Given the description of an element on the screen output the (x, y) to click on. 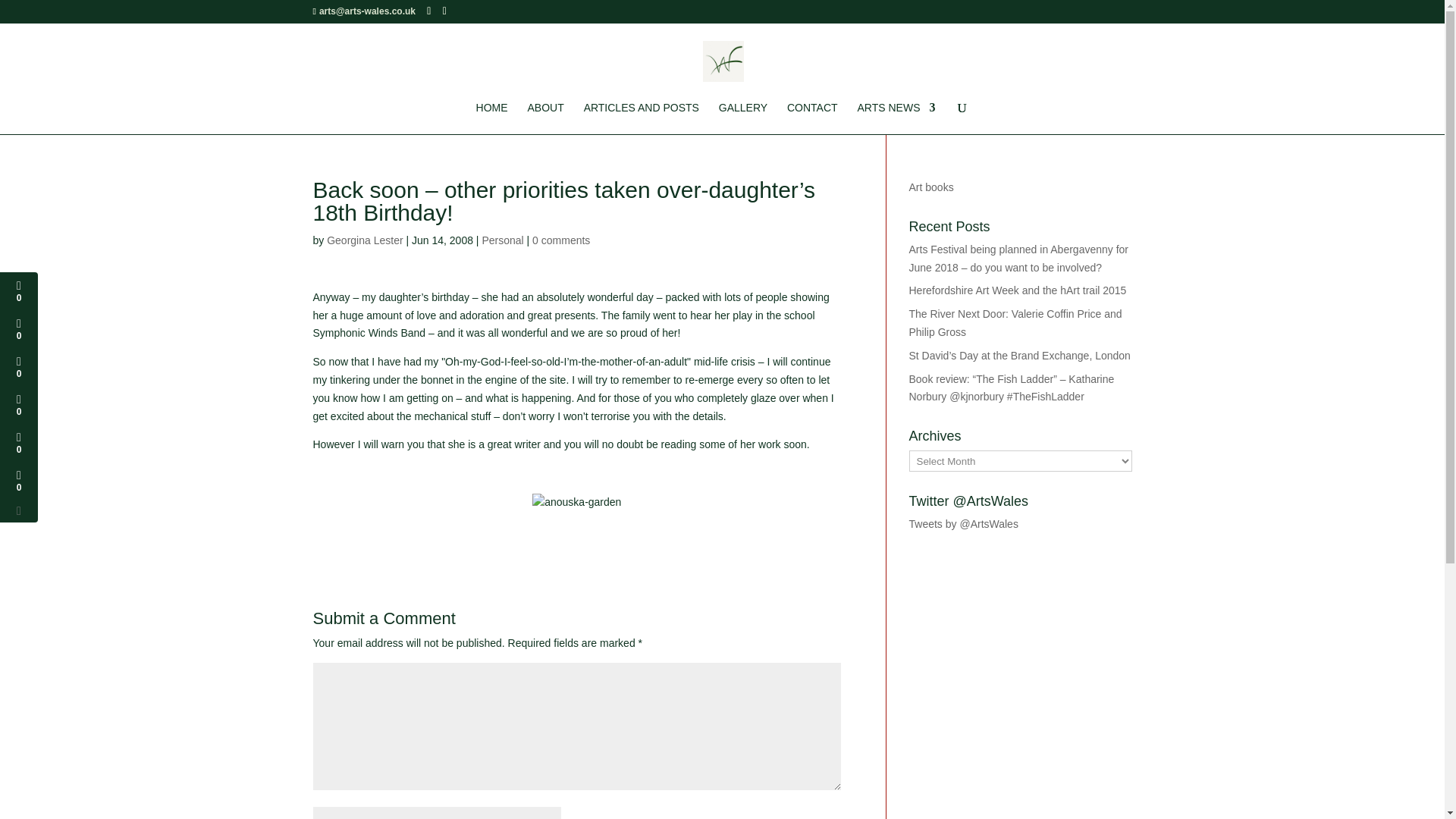
ARTICLES AND POSTS (640, 118)
GALLERY (743, 118)
Georgina Lester (364, 240)
Herefordshire Art Week and the hArt trail 2015 (1016, 290)
Posts by Georgina Lester (364, 240)
0 comments (560, 240)
Personal (501, 240)
CONTACT (812, 118)
HOME (492, 118)
ABOUT (545, 118)
anouska-garden (576, 502)
The River Next Door: Valerie Coffin Price and Philip Gross (1014, 322)
Art books (930, 186)
ARTS NEWS (895, 118)
